Given the description of an element on the screen output the (x, y) to click on. 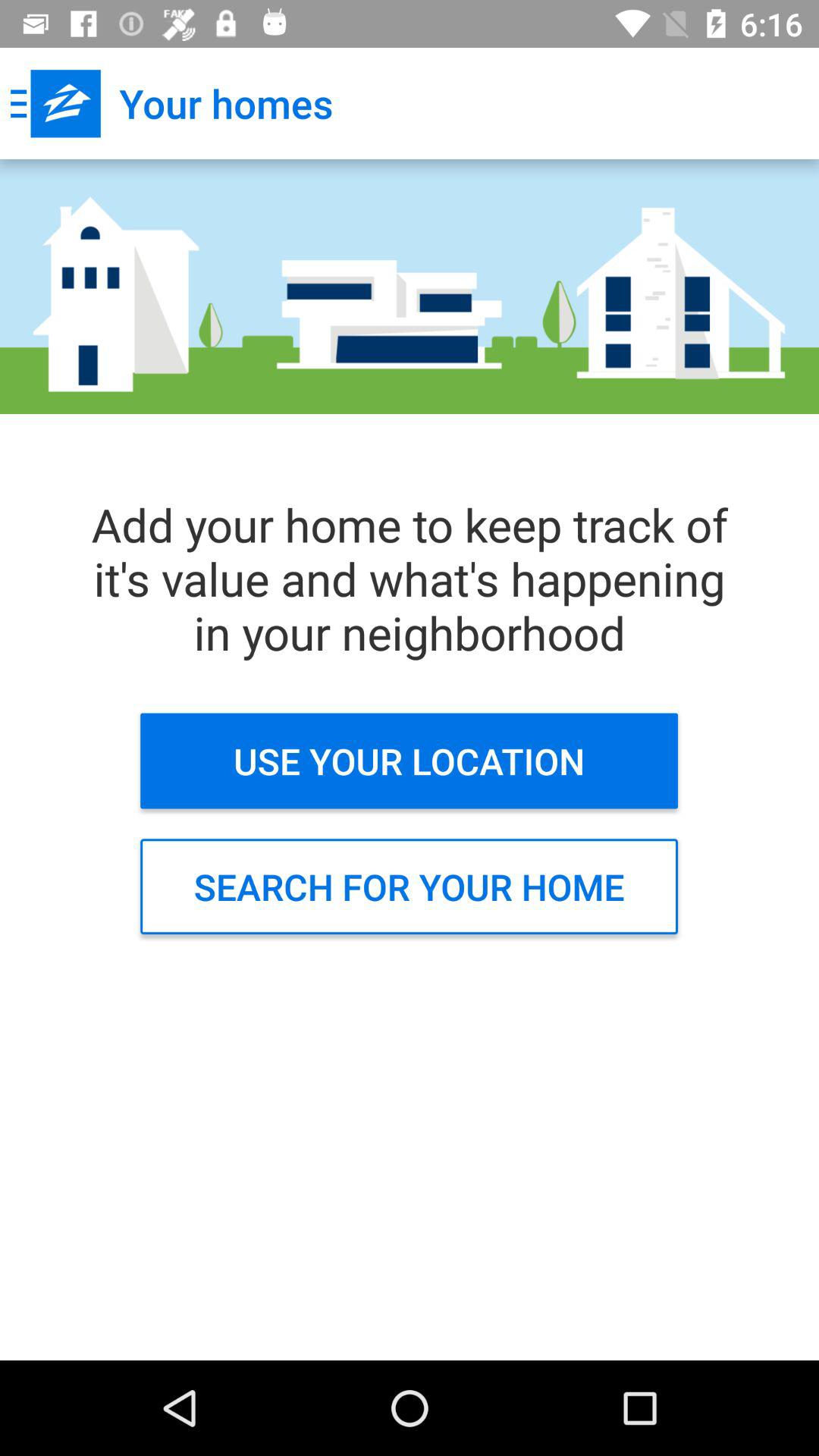
choose item to the left of your homes item (55, 103)
